Given the description of an element on the screen output the (x, y) to click on. 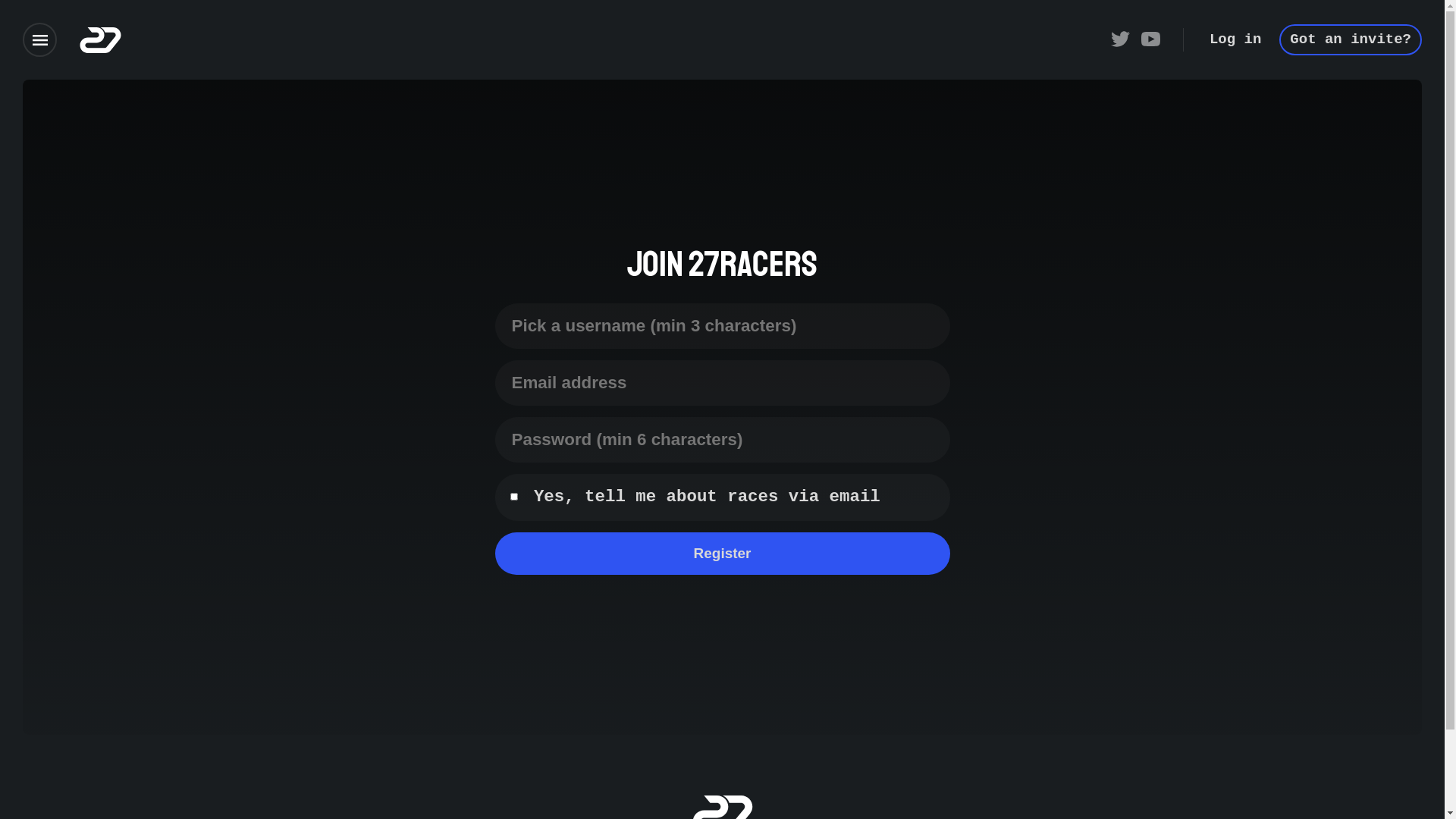
Log in Element type: text (1234, 40)
Got an invite? Element type: text (1350, 40)
Register Element type: text (721, 553)
Menu Element type: text (39, 39)
